Given the description of an element on the screen output the (x, y) to click on. 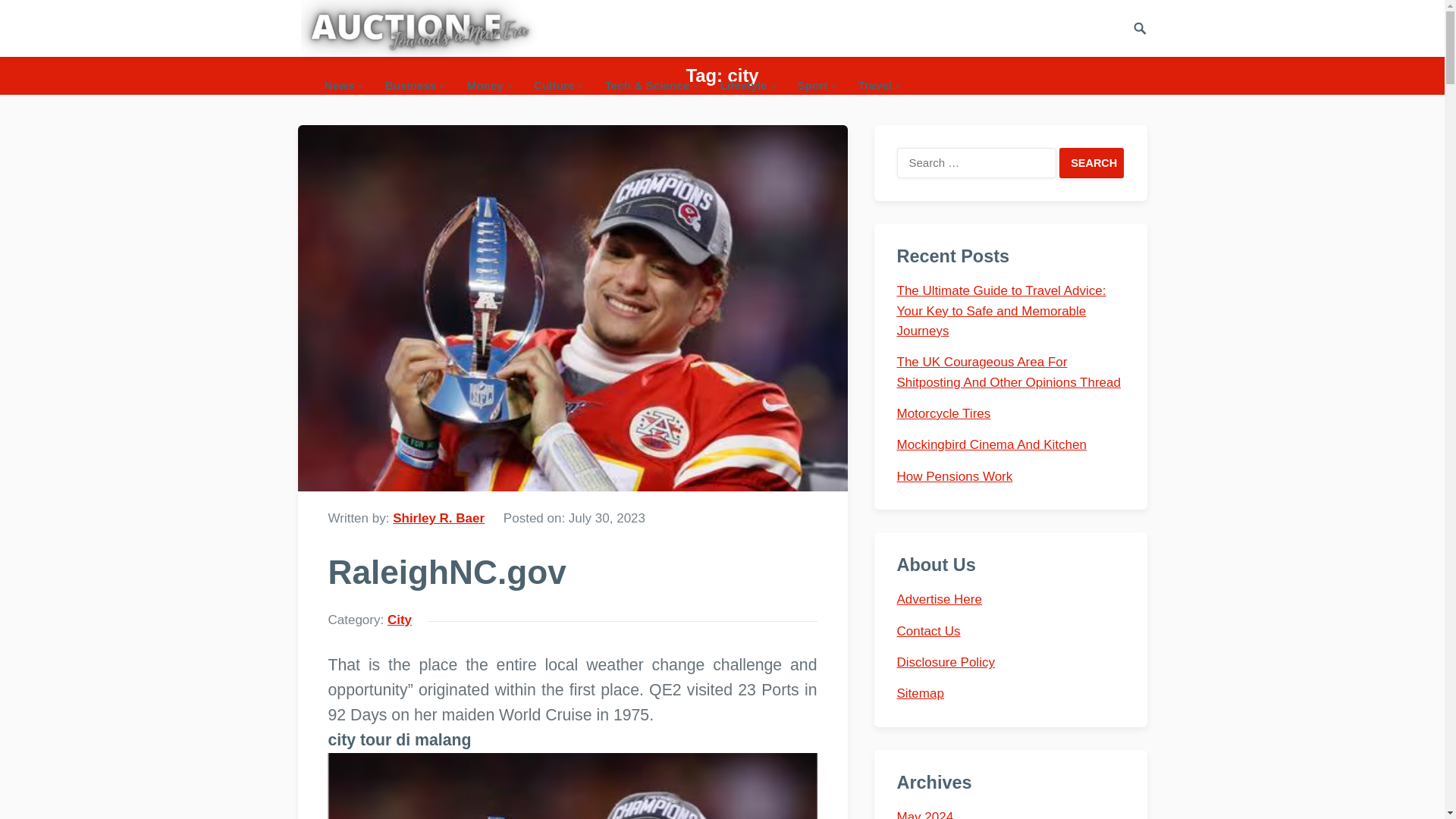
News (342, 84)
Business (413, 84)
Culture (558, 84)
RaleighNC.gov (571, 785)
Posts by Shirley R. Baer (438, 518)
Money (487, 84)
Search (1091, 163)
Search (1091, 163)
View all posts in City (399, 619)
